Given the description of an element on the screen output the (x, y) to click on. 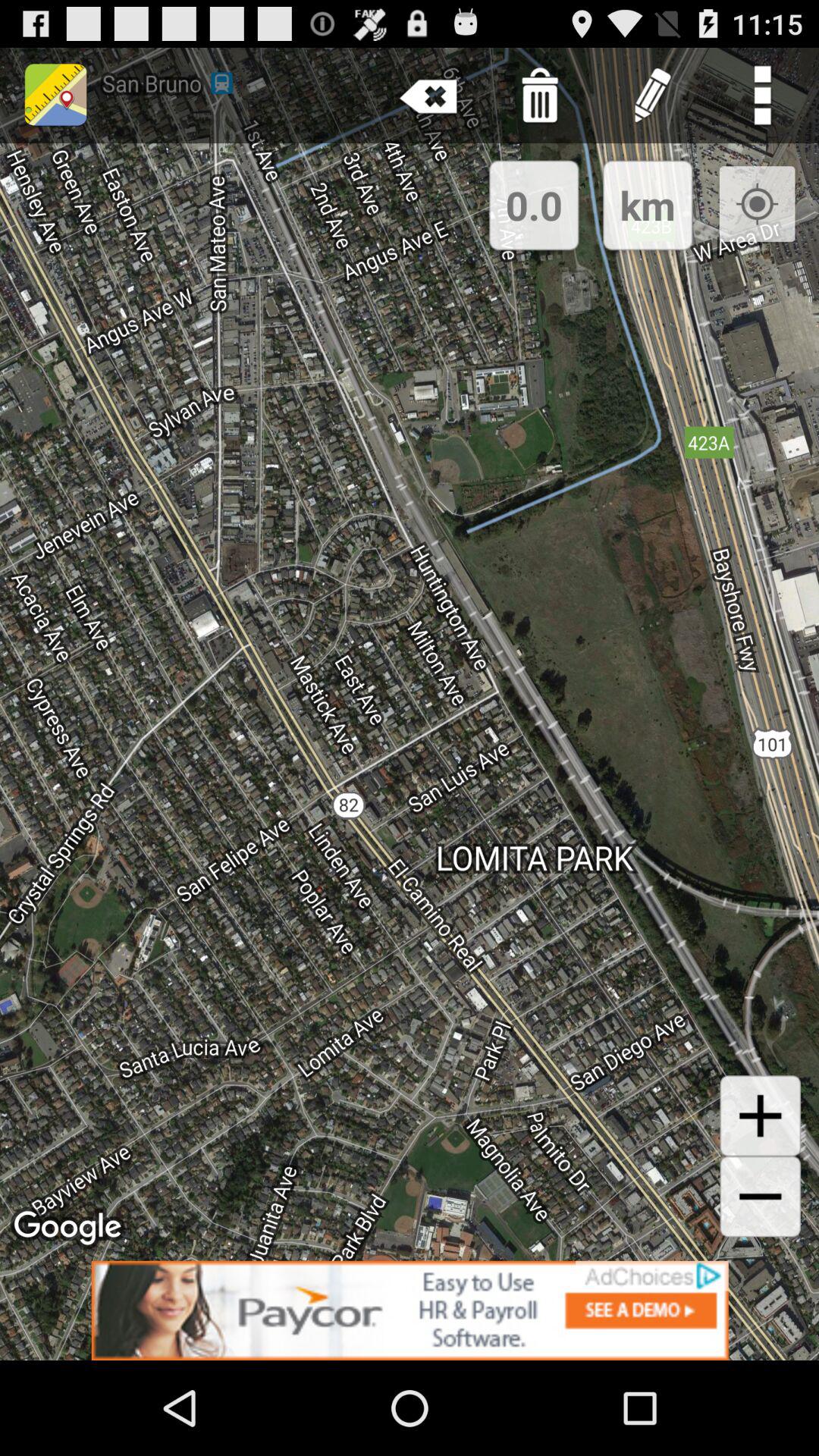
minus option (760, 1196)
